Given the description of an element on the screen output the (x, y) to click on. 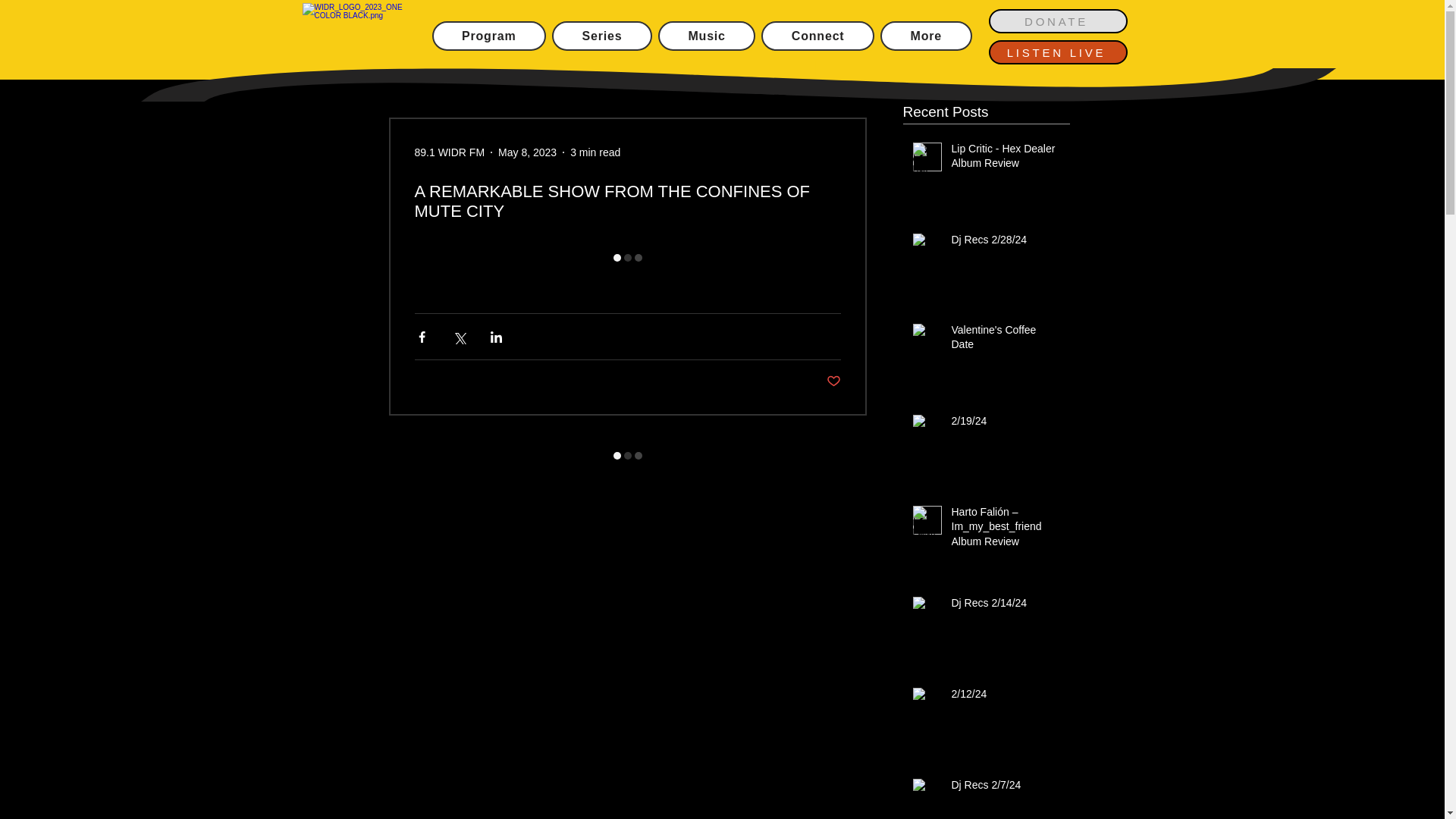
89.1 WIDR FM (448, 152)
3 min read (595, 152)
More (926, 35)
Series (601, 35)
DONATE (1057, 21)
Music (706, 35)
89.1 WIDR FM (448, 152)
May 8, 2023 (526, 152)
Post not marked as liked (834, 381)
Connect (818, 35)
Program (489, 35)
LISTEN LIVE (1057, 52)
